Given the description of an element on the screen output the (x, y) to click on. 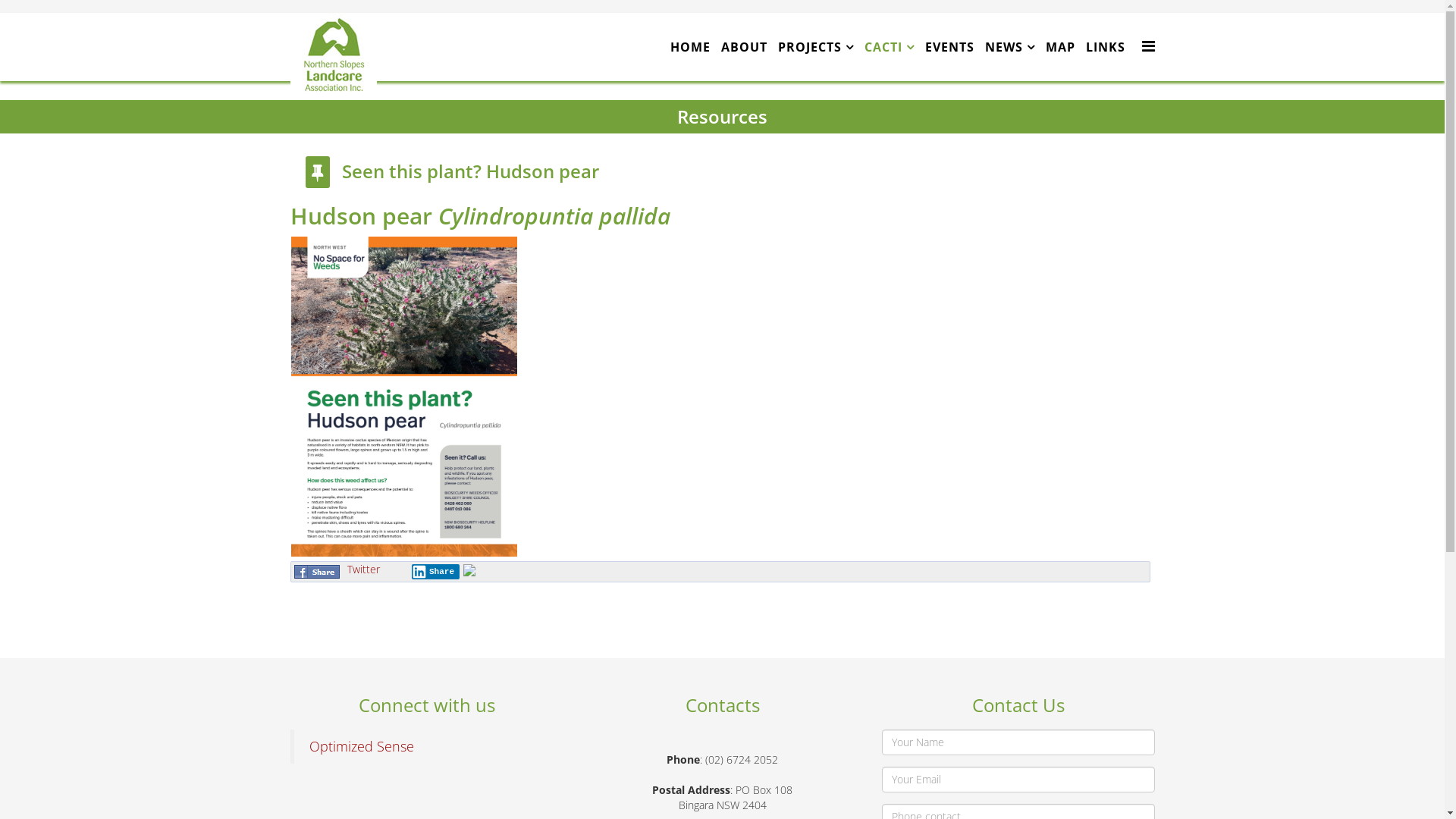
LINKS Element type: text (1104, 46)
HOME Element type: text (689, 46)
Helix Megamenu Options Element type: hover (1148, 45)
EVENTS Element type: text (949, 46)
NEWS Element type: text (1009, 46)
PROJECTS Element type: text (814, 46)
Share Element type: text (435, 571)
ABOUT Element type: text (743, 46)
MAP Element type: text (1060, 46)
CACTI Element type: text (888, 46)
Twitter Element type: text (363, 568)
Optimized Sense Element type: text (361, 746)
